Given the description of an element on the screen output the (x, y) to click on. 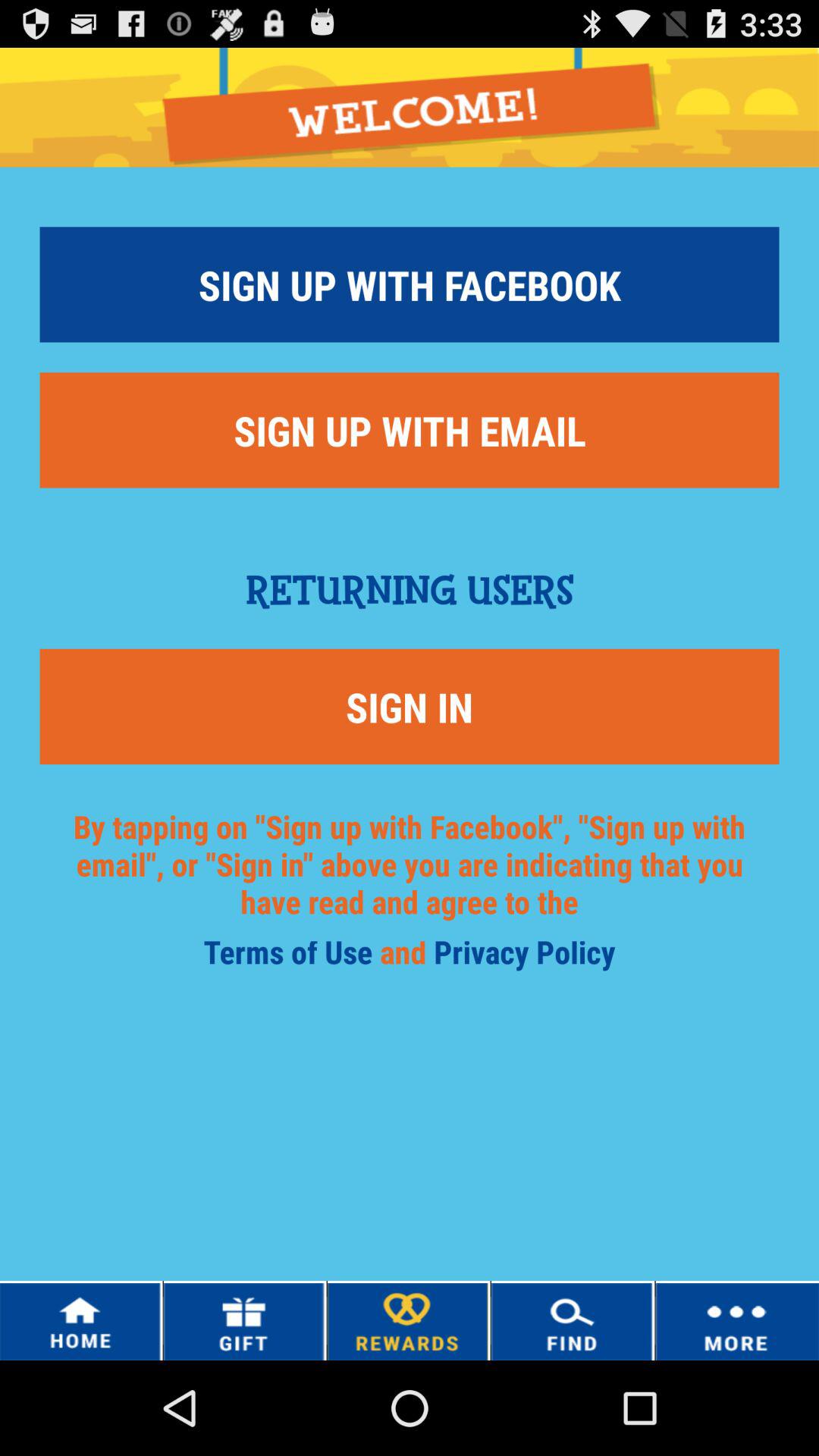
click the terms of use  icon (291, 957)
